Given the description of an element on the screen output the (x, y) to click on. 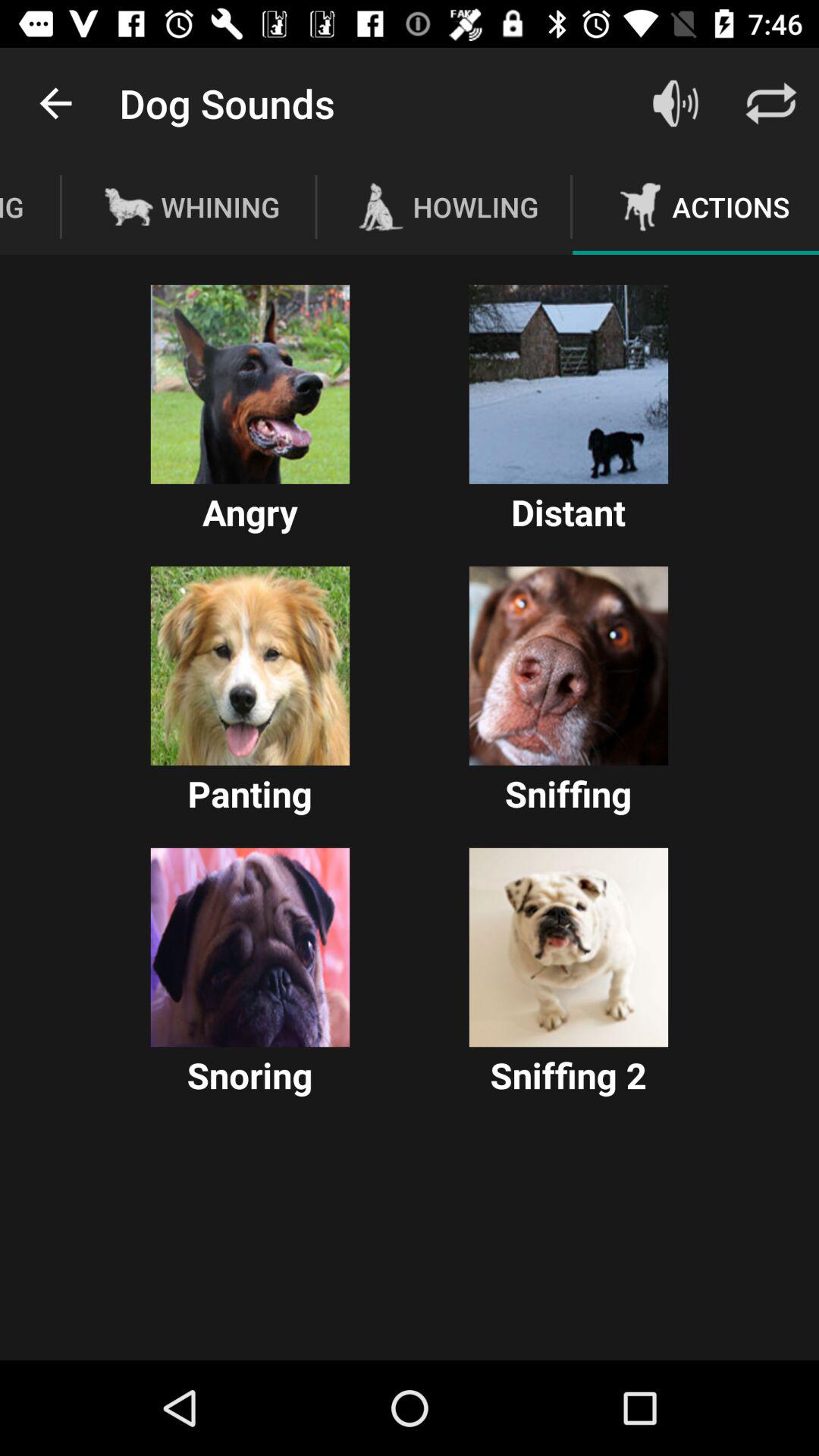
go to left of whining (128, 206)
select the logo of howling (381, 206)
select the image above the snoring (249, 946)
click on the image above sniffing 2 (568, 946)
select the sound icon beside text dog sounds (675, 103)
